Given the description of an element on the screen output the (x, y) to click on. 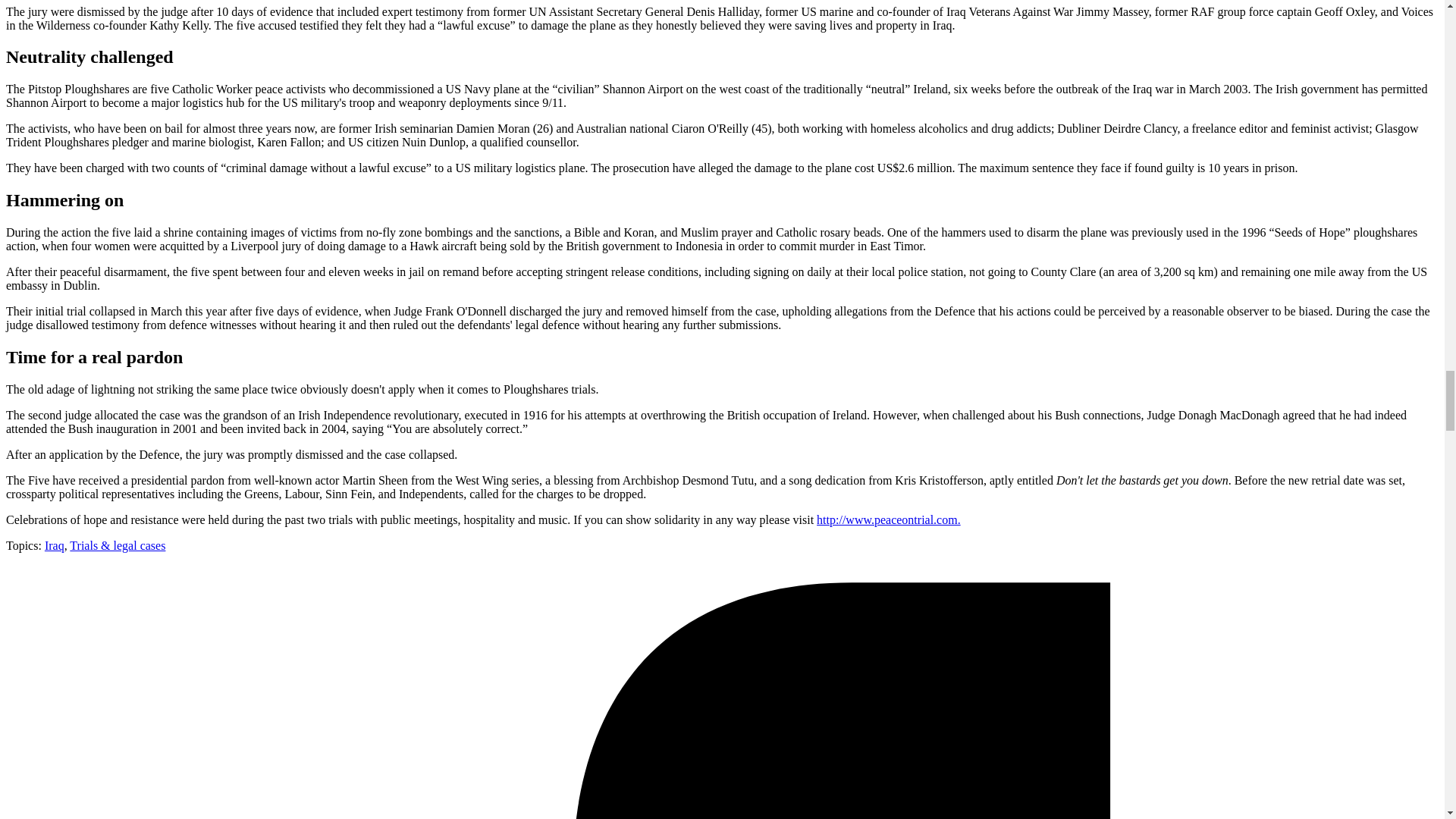
Iraq (54, 545)
